Given the description of an element on the screen output the (x, y) to click on. 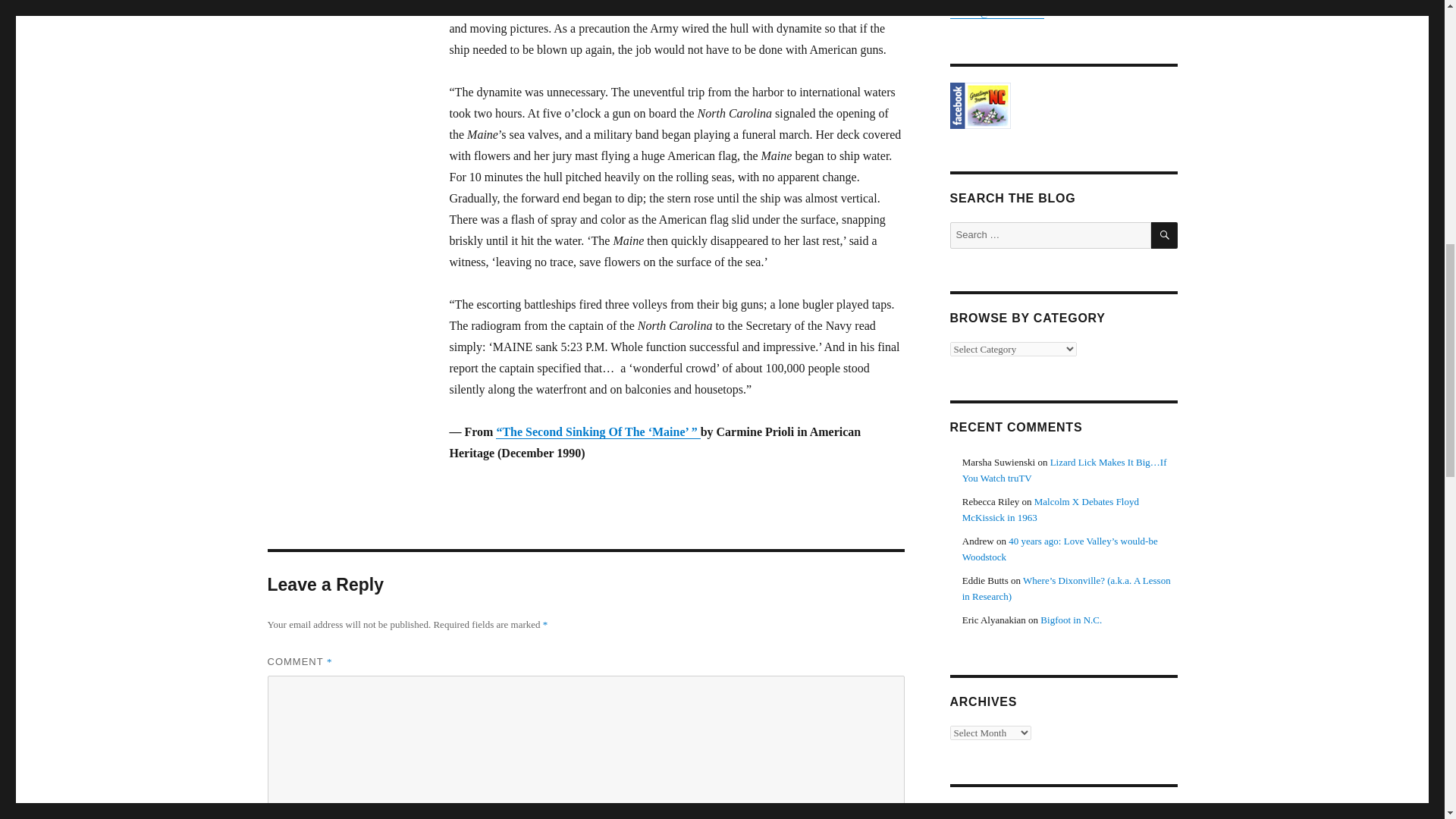
Malcolm X Debates Floyd McKissick in 1963 (1050, 509)
North Carolina Collection, Wilson Library, UNC-Chapel Hill (1062, 105)
SEARCH (1164, 234)
Bigfoot in N.C. (1071, 619)
